Given the description of an element on the screen output the (x, y) to click on. 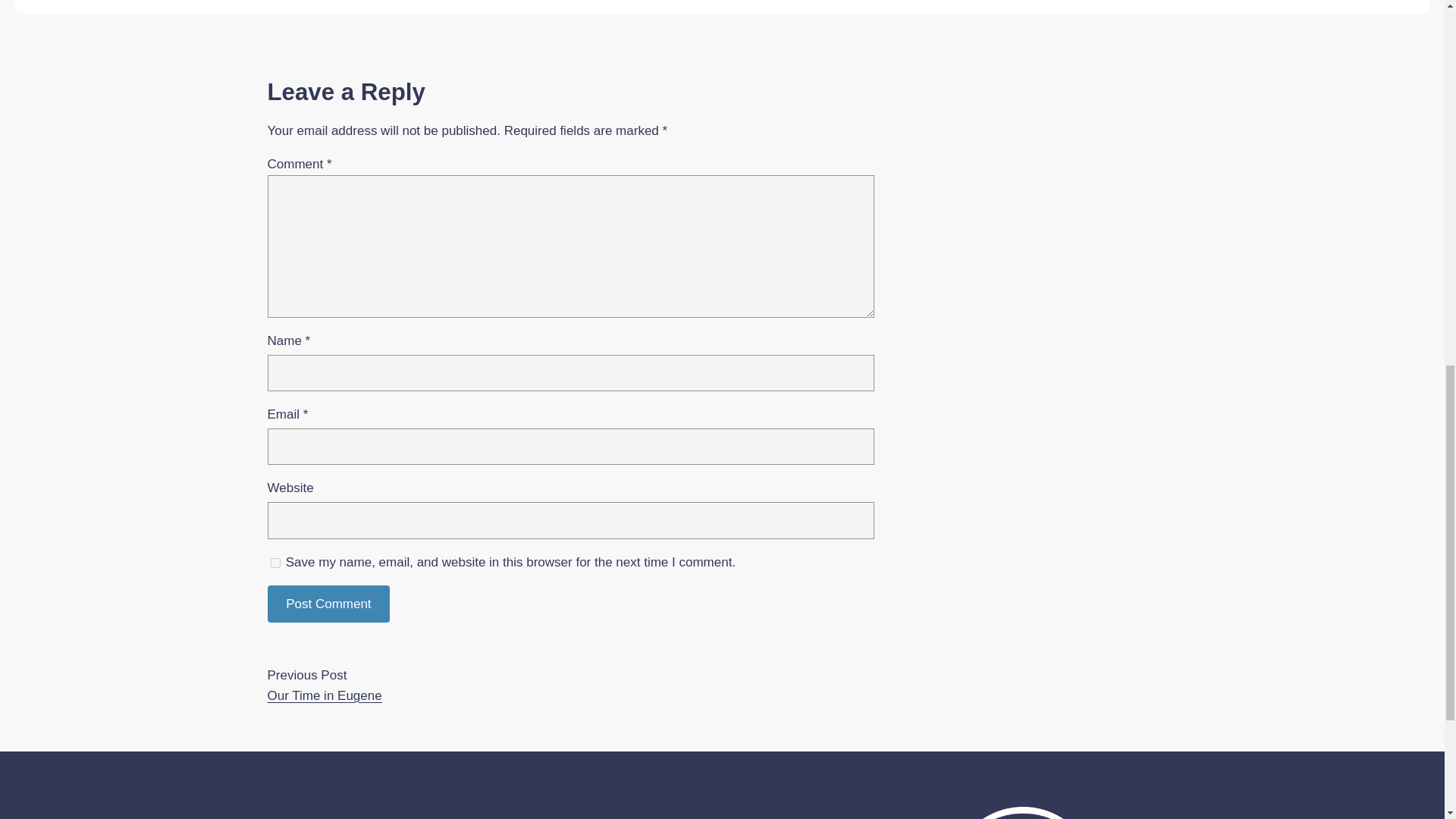
Our Time in Eugene (323, 695)
Post Comment (328, 603)
Post Comment (328, 603)
